Given the description of an element on the screen output the (x, y) to click on. 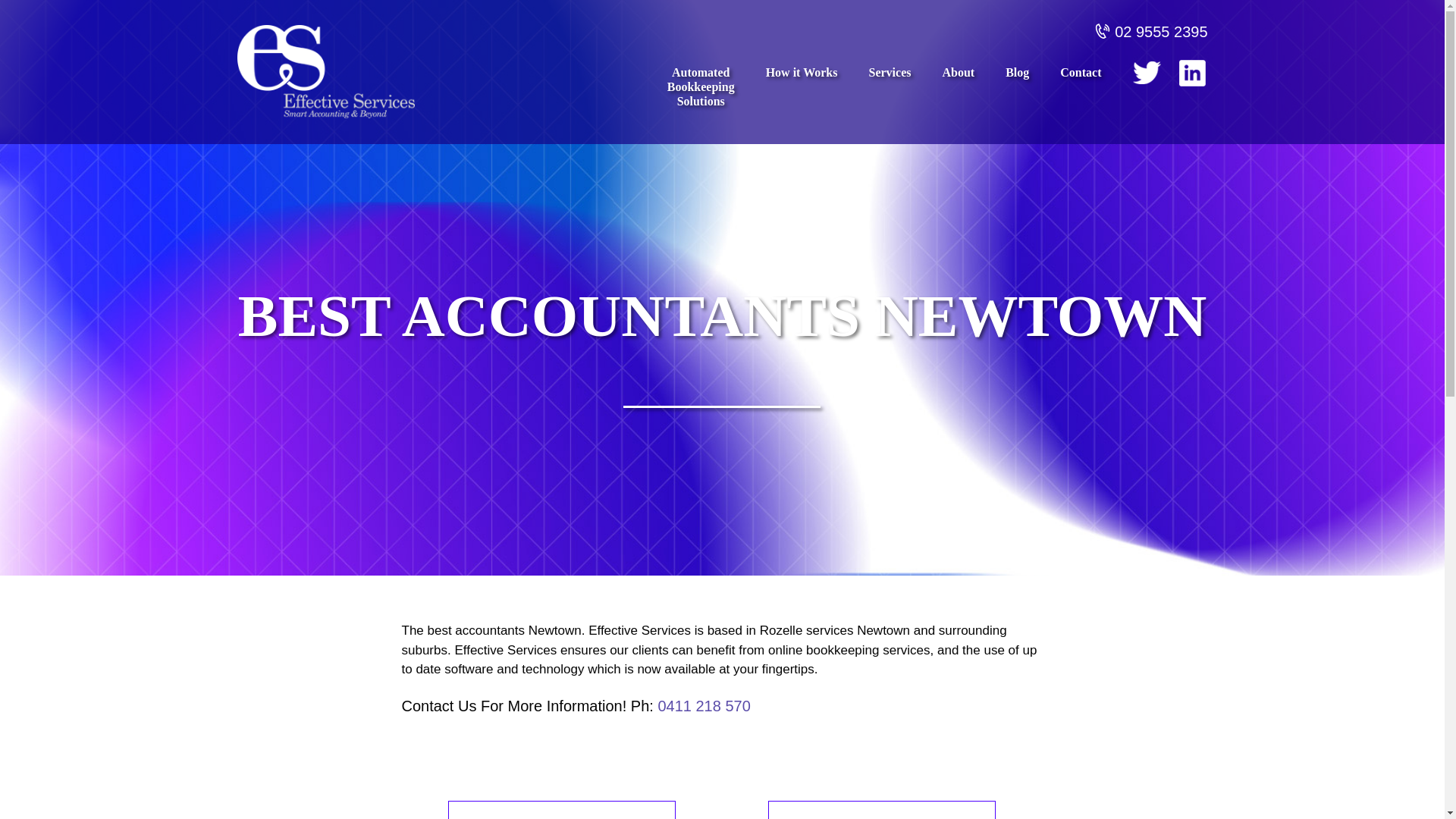
Twitter (1146, 72)
Automated Bookkeeping Solutions (880, 809)
About (560, 809)
LinkedIn (1191, 72)
How it Works (802, 96)
0411 218 570 (703, 705)
